Given the description of an element on the screen output the (x, y) to click on. 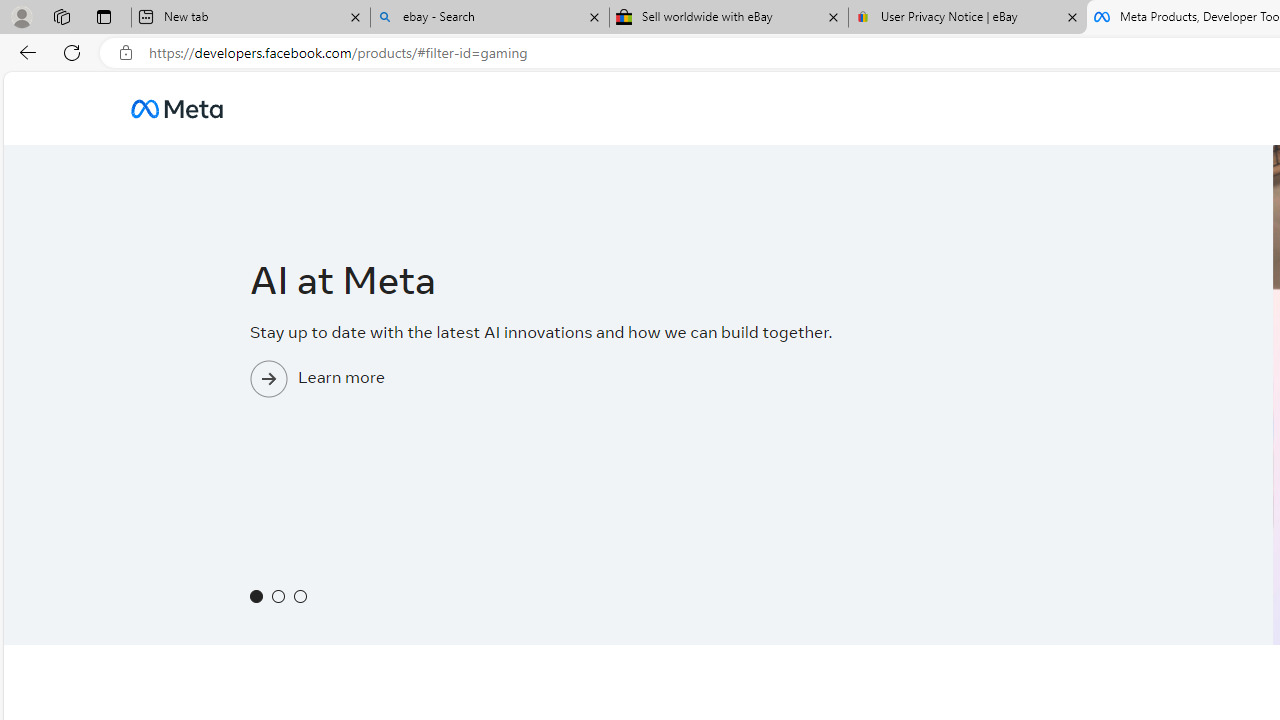
AutomationID: u_0_3h_wf (176, 107)
Show slide 2 (278, 596)
Show slide 3 (301, 596)
Show slide 1 (256, 596)
Sell worldwide with eBay (729, 17)
User Privacy Notice | eBay (967, 17)
Learn more (637, 416)
